Given the description of an element on the screen output the (x, y) to click on. 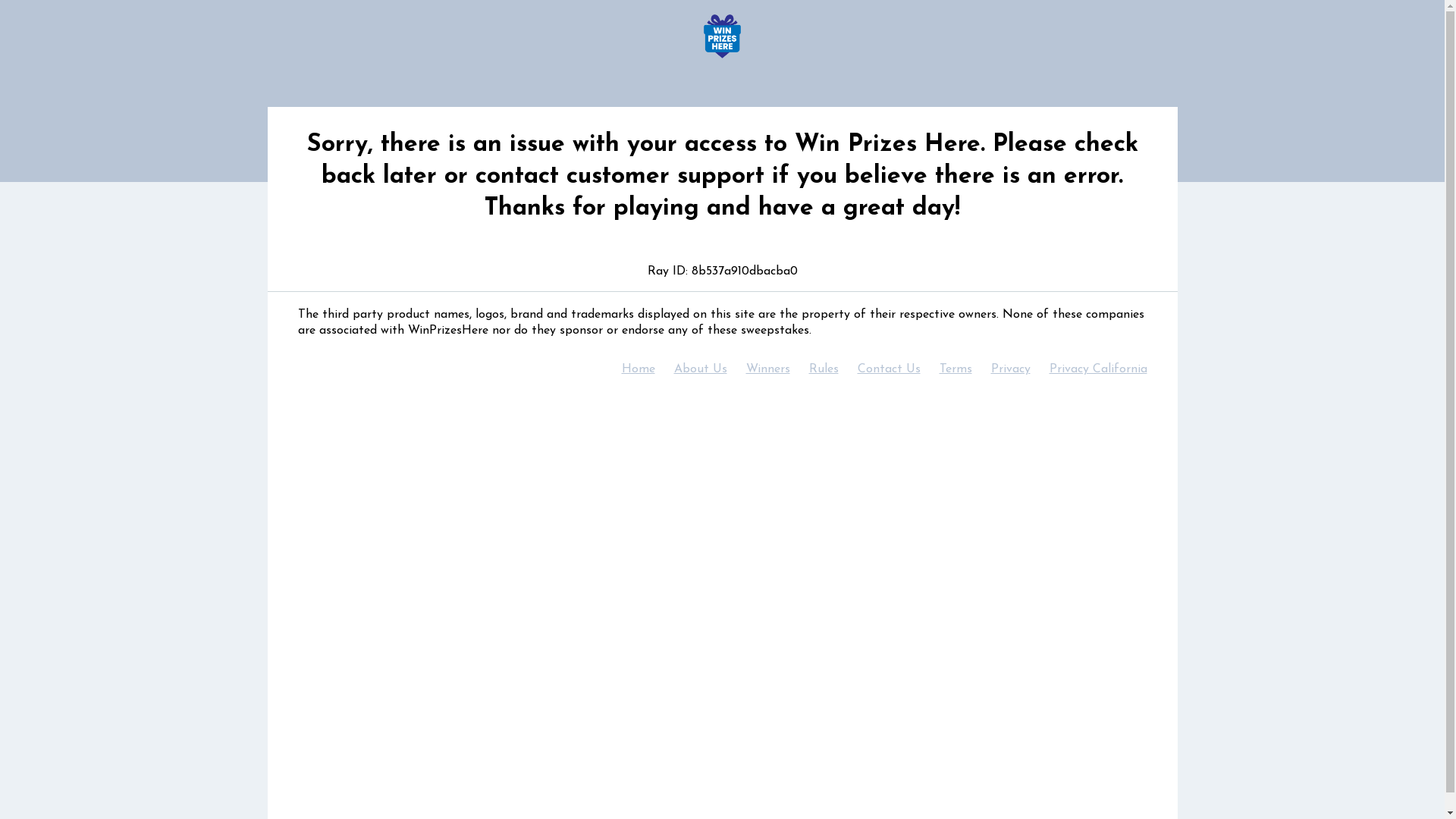
Privacy (1009, 369)
Privacy California (1098, 369)
Terms (955, 369)
Winners (767, 369)
Rules (823, 369)
Contact Us (888, 369)
Home (638, 369)
About Us (699, 369)
